Given the description of an element on the screen output the (x, y) to click on. 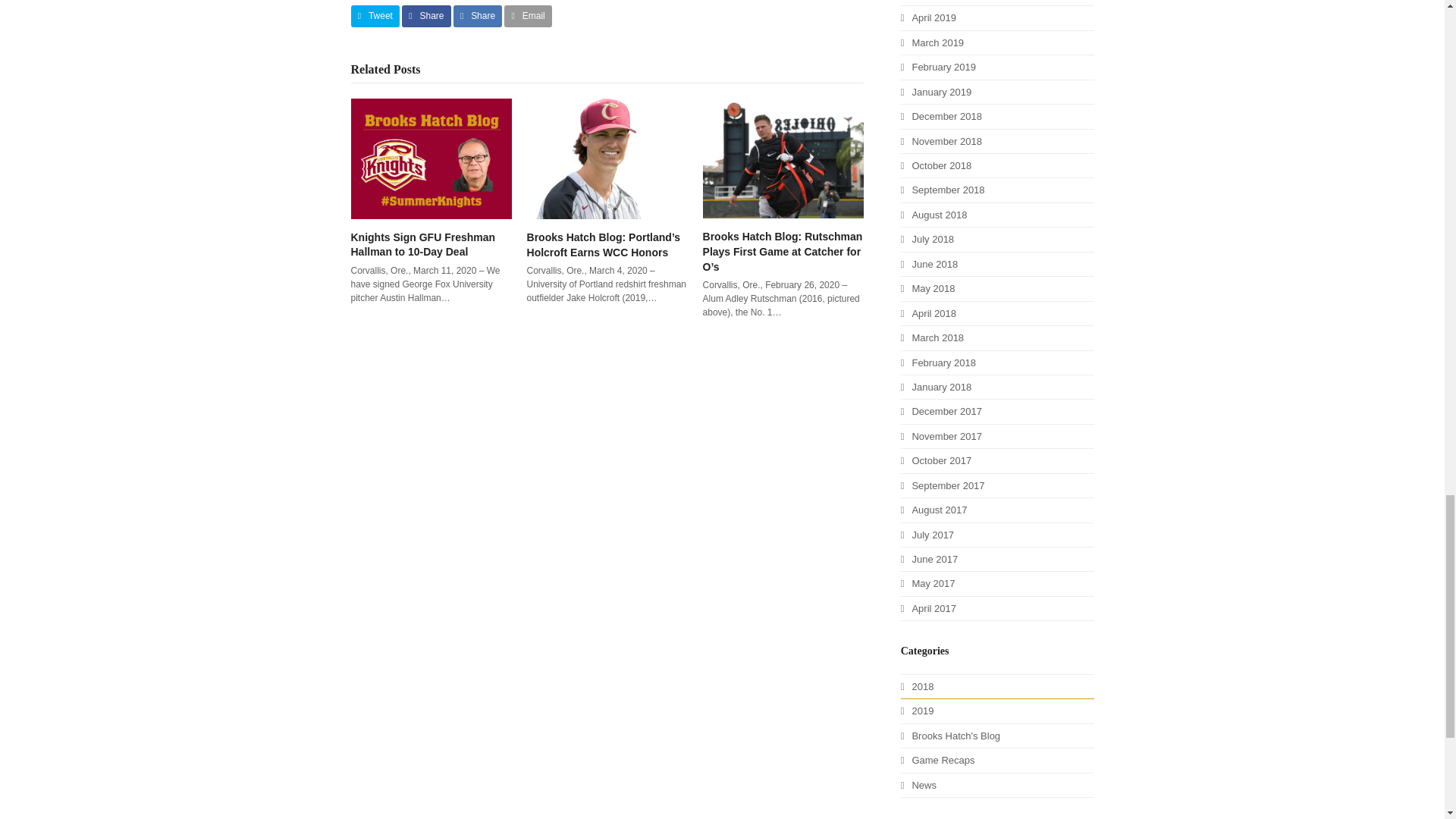
Knights Sign GFU Freshman Hallman to 10-Day Deal (430, 157)
